Given the description of an element on the screen output the (x, y) to click on. 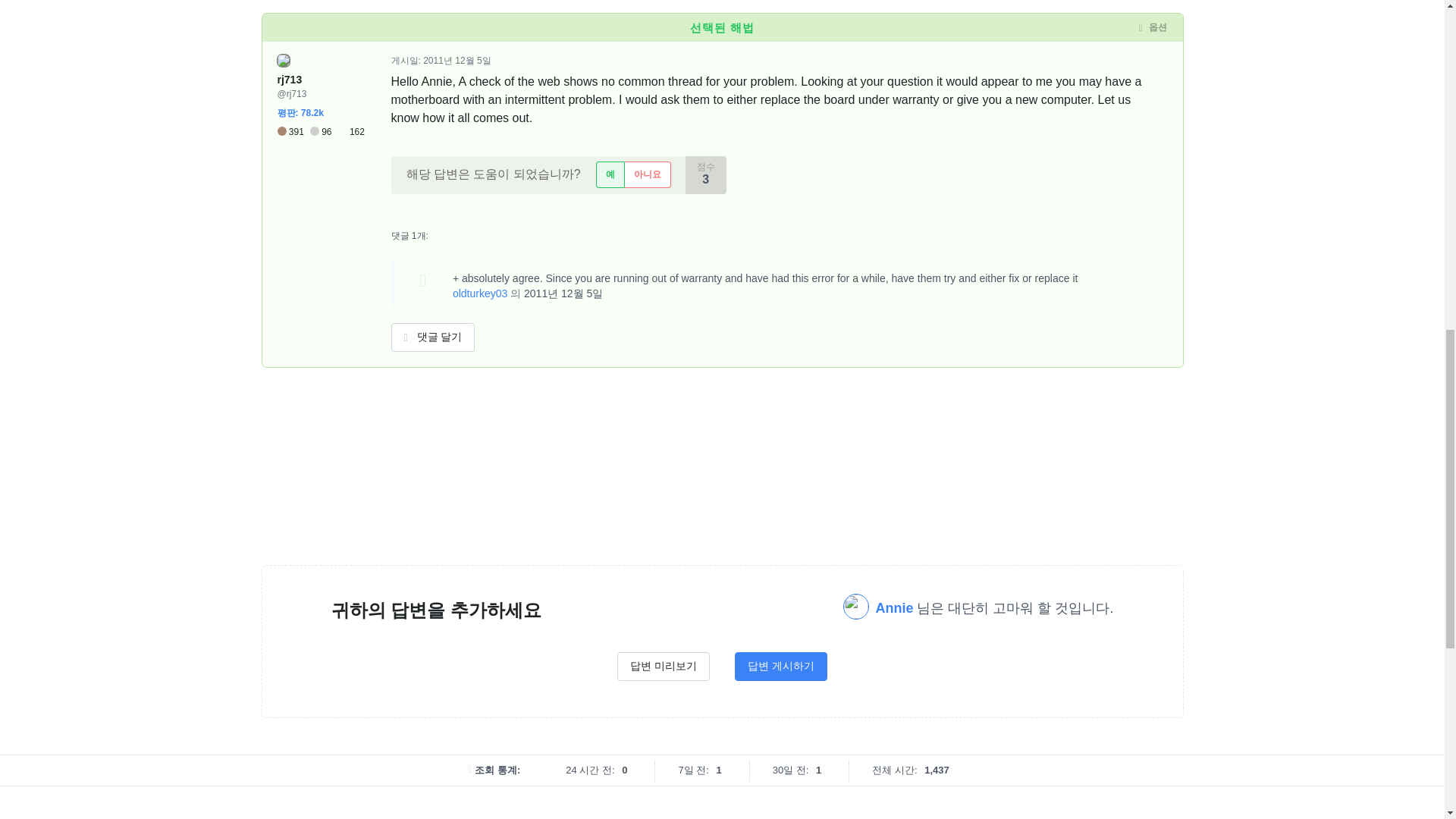
Mon, 05 Dec 2011 09:53:46 -0700 (563, 293)
Mon, 05 Dec 2011 09:50:51 -0700 (456, 60)
391 96 162 (321, 132)
